Given the description of an element on the screen output the (x, y) to click on. 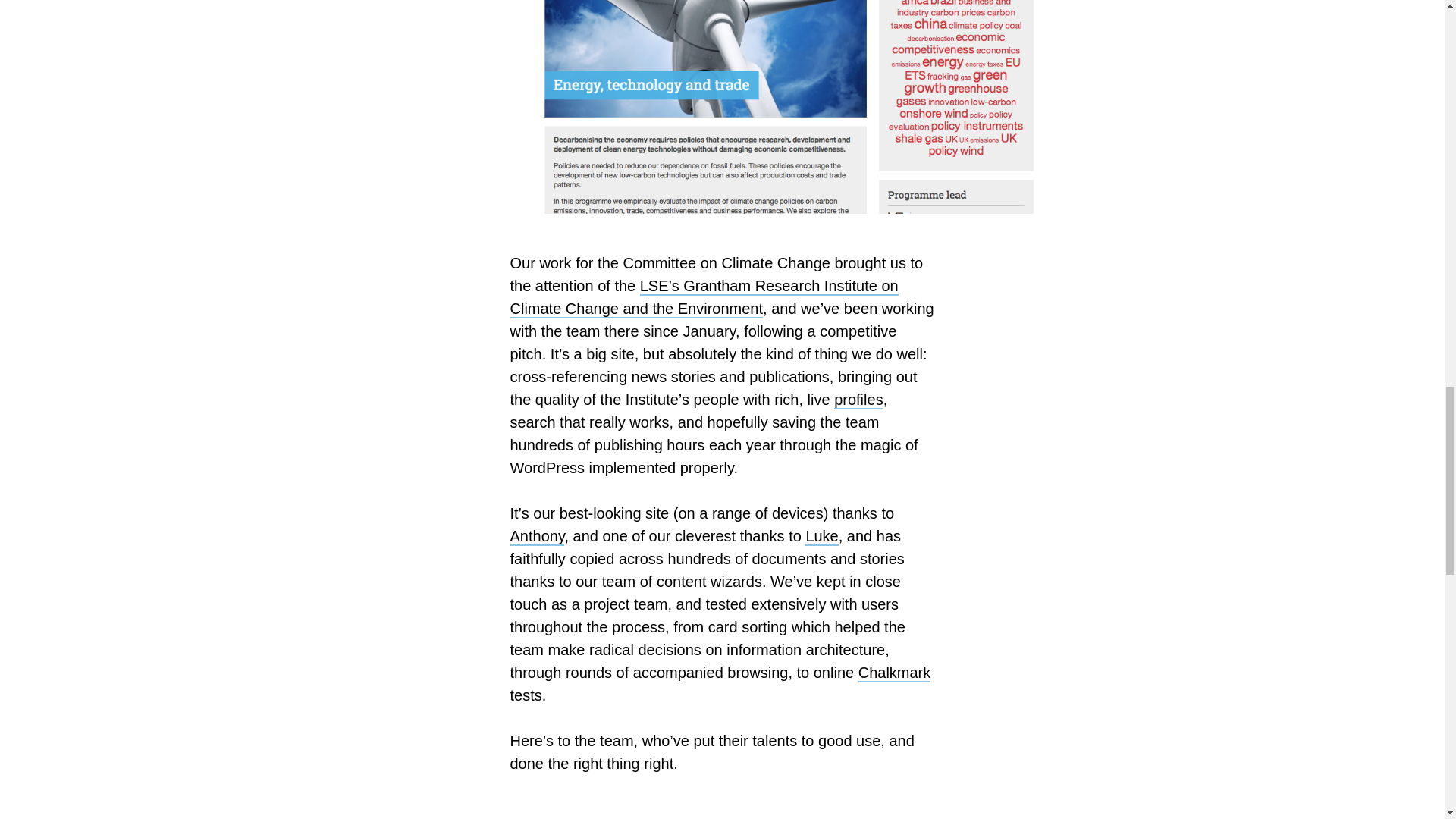
Anthony (536, 536)
Chalkmark (895, 673)
Luke (821, 536)
profiles (858, 400)
